Given the description of an element on the screen output the (x, y) to click on. 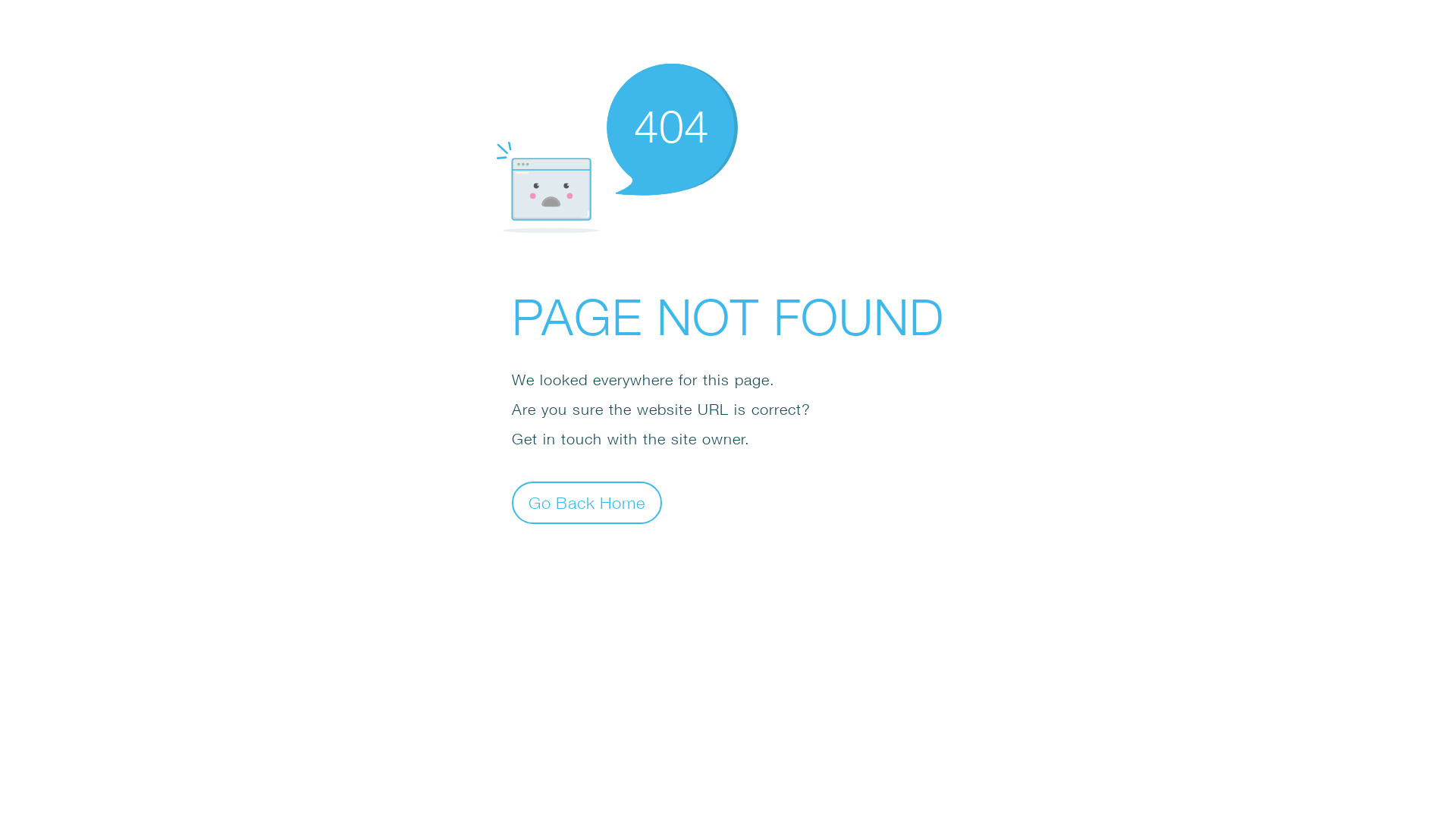
Go Back Home Element type: text (586, 502)
